Given the description of an element on the screen output the (x, y) to click on. 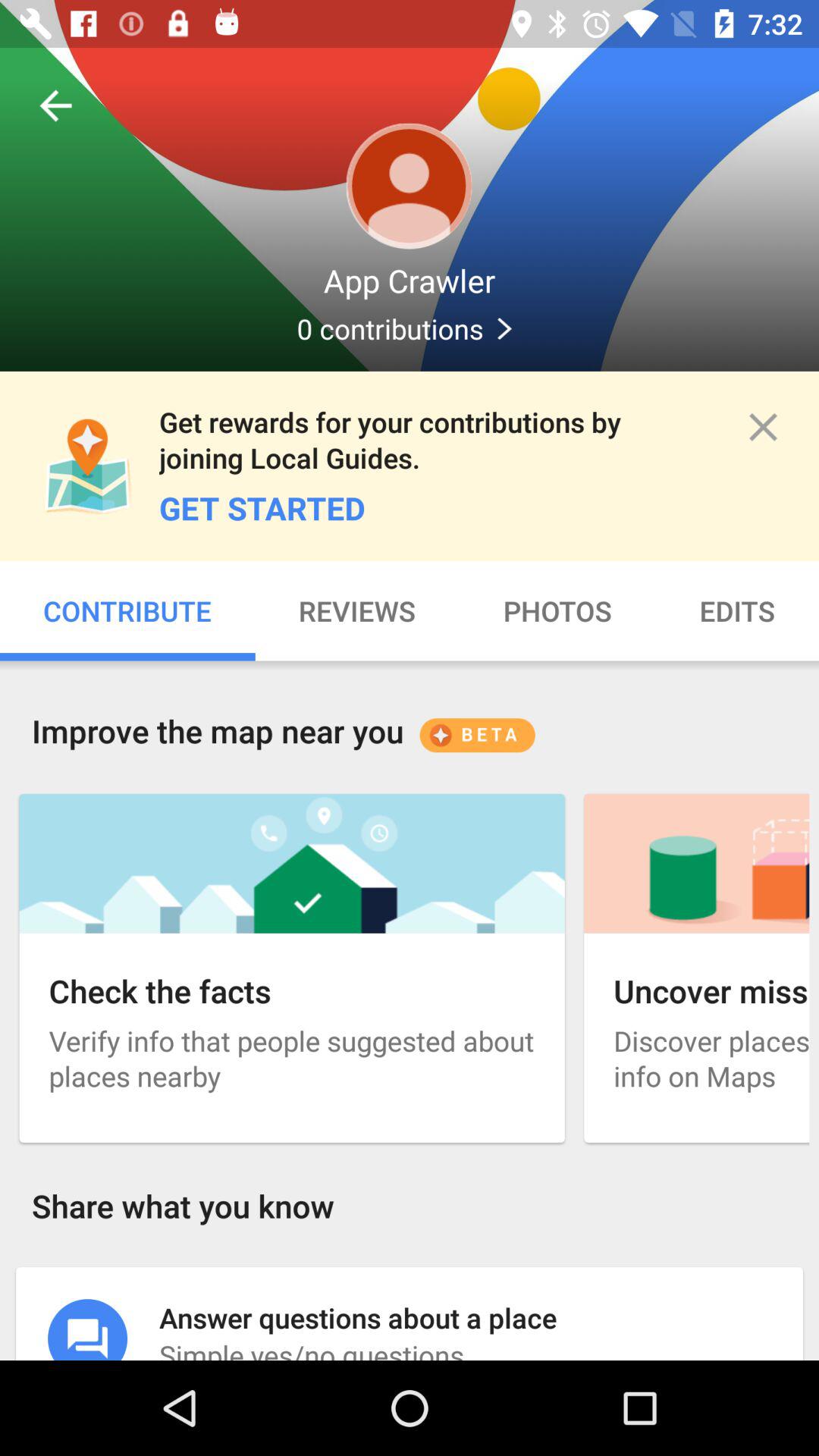
choose the app below the get started app (357, 610)
